Given the description of an element on the screen output the (x, y) to click on. 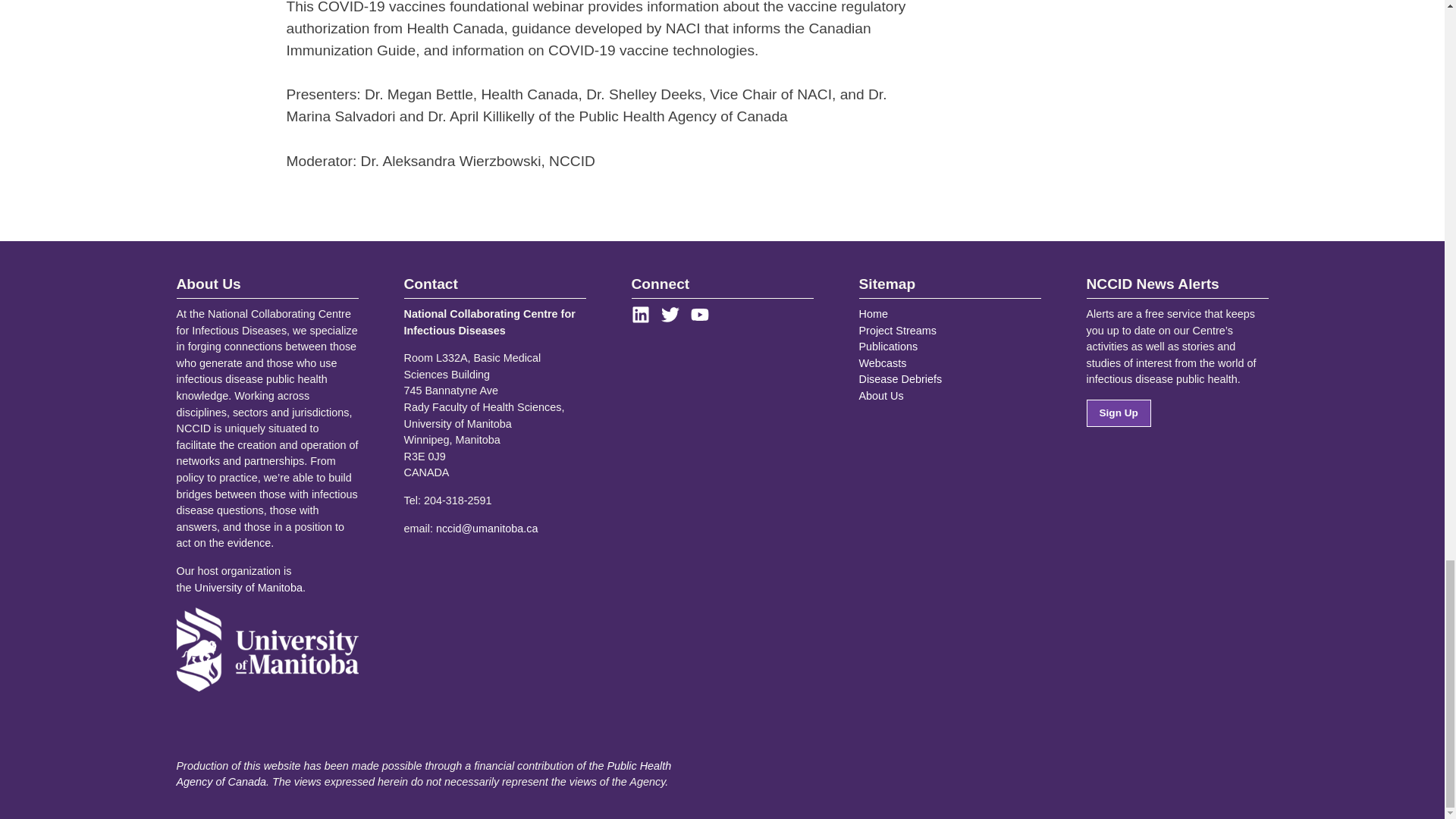
Publications (888, 346)
Disease Debriefs (900, 378)
Webcasts (882, 363)
Project Streams (897, 329)
Home (872, 313)
University of Manitoba (248, 587)
